Given the description of an element on the screen output the (x, y) to click on. 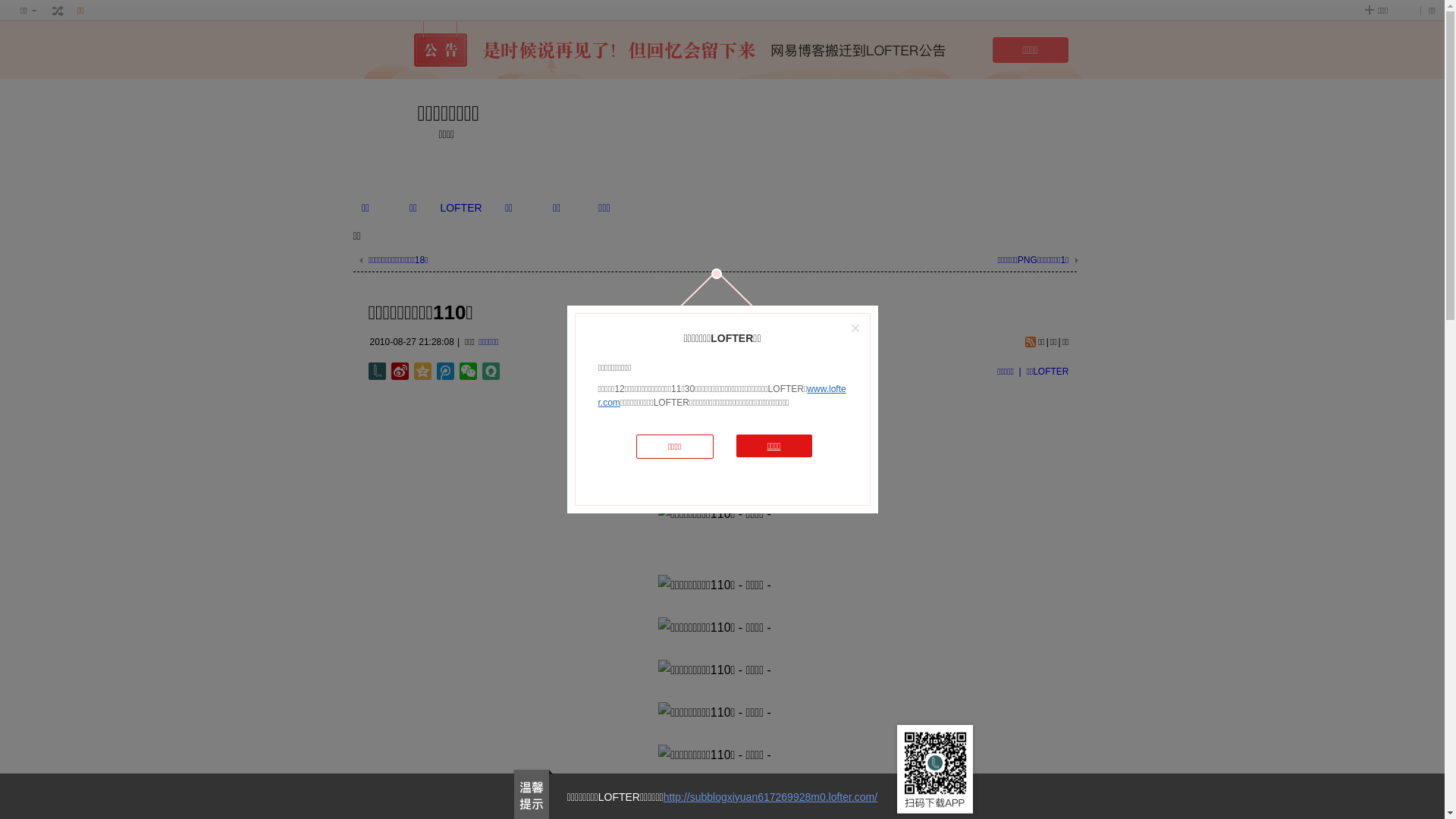
  Element type: text (58, 10)
http://subblogxiyuan617269928m0.lofter.com/ Element type: text (770, 796)
www.lofter.com Element type: text (721, 395)
LOFTER Element type: text (460, 207)
